Given the description of an element on the screen output the (x, y) to click on. 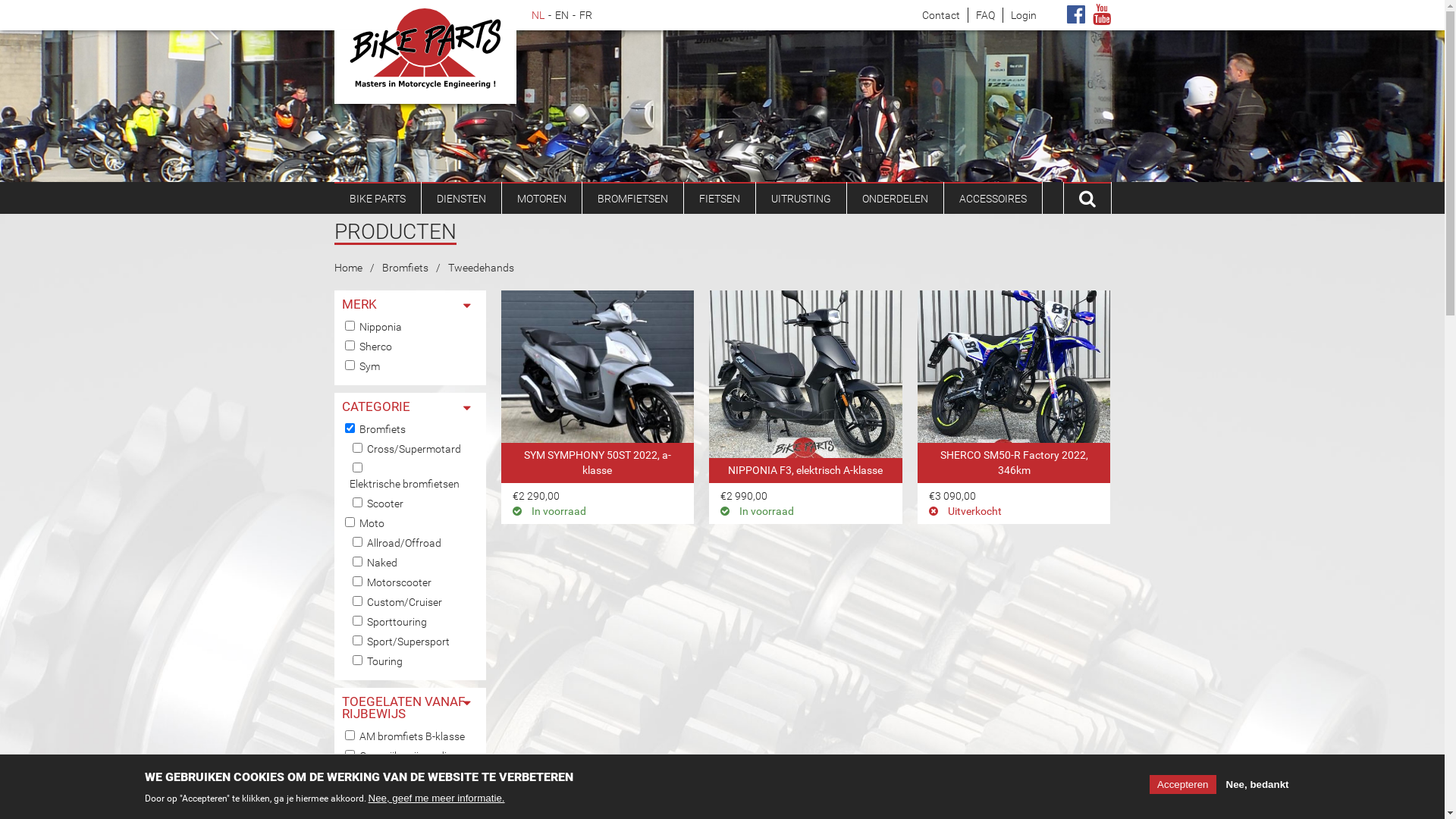
Overslaan en naar de inhoud gaan Element type: text (80, 0)
ACCESSOIRES Element type: text (992, 197)
NL Element type: text (536, 15)
Nee, geef me meer informatie. Element type: text (436, 797)
AM bromfiets B-klasse
AM bromfiets B-klasse-filter toepassen Element type: text (411, 735)
Geen rijbewijs nodig
Geen rijbewijs nodig-filter toepassen Element type: text (405, 755)
Sherco
Sherco-filter toepassen Element type: text (375, 346)
Moto
Moto-filter toepassen Element type: text (371, 522)
bromfiets te koop : NIPPONIA F3, elektrisch A-klasse Element type: hover (805, 374)
Custom/Cruiser
Custom/Cruiser-filter toepassen Element type: text (404, 601)
Home Element type: text (347, 267)
Touring
Touring-filter toepassen Element type: text (384, 660)
Naked
Naked-filter toepassen Element type: text (382, 562)
Nee, bedankt Element type: text (1257, 784)
Contact Element type: text (941, 15)
EN Element type: text (561, 15)
Sport/Supersport
Sport/Supersport-filter toepassen Element type: text (408, 641)
Motorscooter
Motorscooter-filter toepassen Element type: text (399, 581)
MOTOREN Element type: text (541, 197)
Allroad/Offroad
Allroad/Offroad-filter toepassen Element type: text (404, 542)
Scooter
Scooter-filter toepassen Element type: text (385, 503)
Nipponia
Nipponia-filter toepassen Element type: text (380, 326)
Bromfiets Element type: text (405, 267)
ONDERDELEN Element type: text (894, 197)
BROMFIETSEN Element type: text (632, 197)
FR Element type: text (585, 15)
Sporttouring
Sporttouring-filter toepassen Element type: text (396, 621)
Bike Parts Element type: hover (424, 47)
BIKE PARTS Element type: text (376, 197)
Login Element type: text (1022, 15)
Accepteren Element type: text (1182, 784)
te koop : SHERCO SM50-R Factory 2022, 346km Element type: hover (1013, 374)
UITRUSTING Element type: text (800, 197)
Cross/Supermotard
Cross/Supermotard-filter toepassen Element type: text (414, 448)
FIETSEN Element type: text (719, 197)
DIENSTEN Element type: text (461, 197)
Sym
Sym-filter toepassen Element type: text (369, 365)
FAQ Element type: text (984, 15)
